Given the description of an element on the screen output the (x, y) to click on. 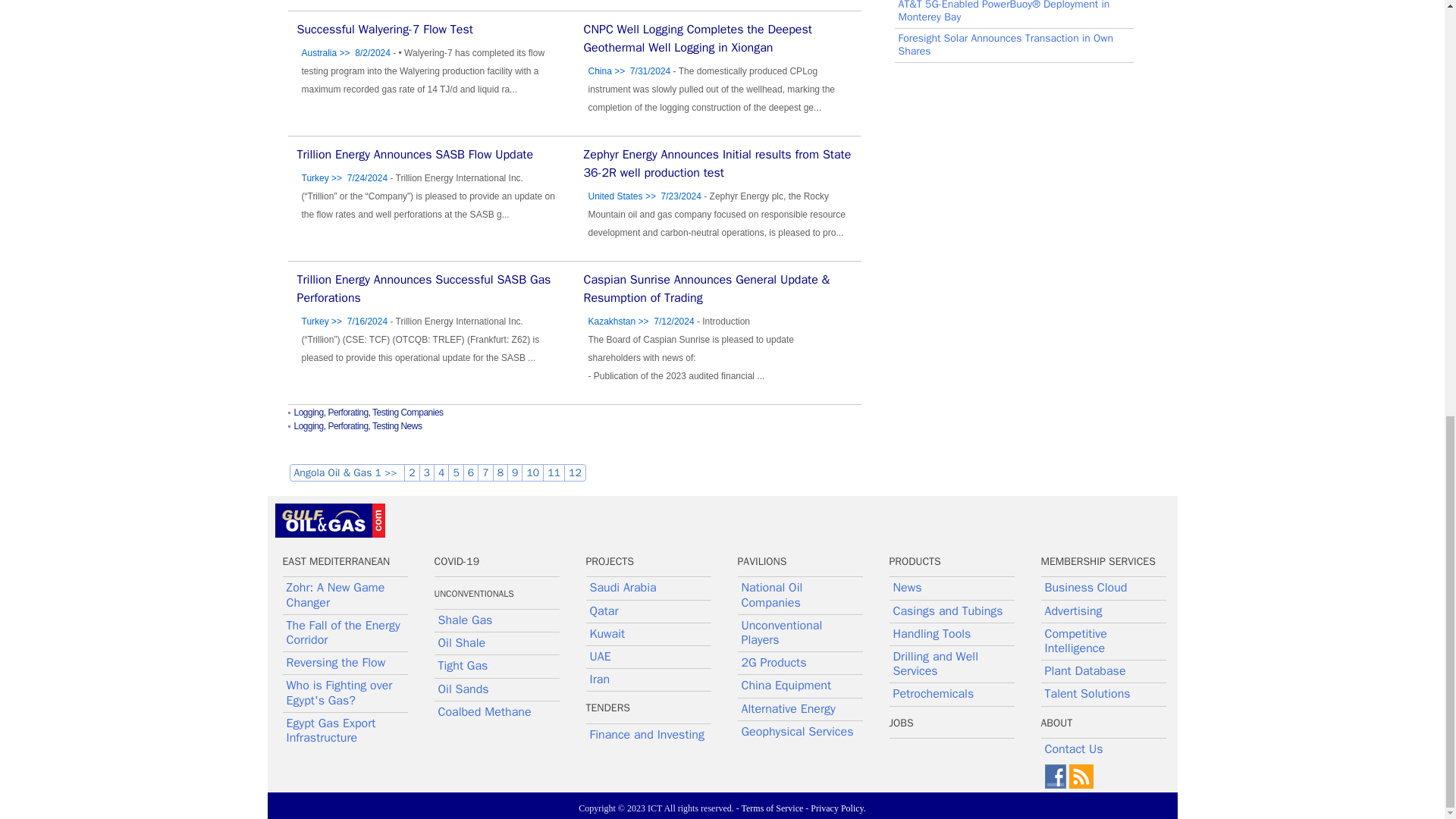
Logging, Perforating, Testing Companies (369, 412)
Trillion Energy Announces SASB Flow Update (415, 154)
Successful Walyering-7 Flow Test (385, 29)
Logging, Perforating, Testing News (358, 425)
Trillion Energy Announces Successful SASB Gas Perforations (424, 288)
